Given the description of an element on the screen output the (x, y) to click on. 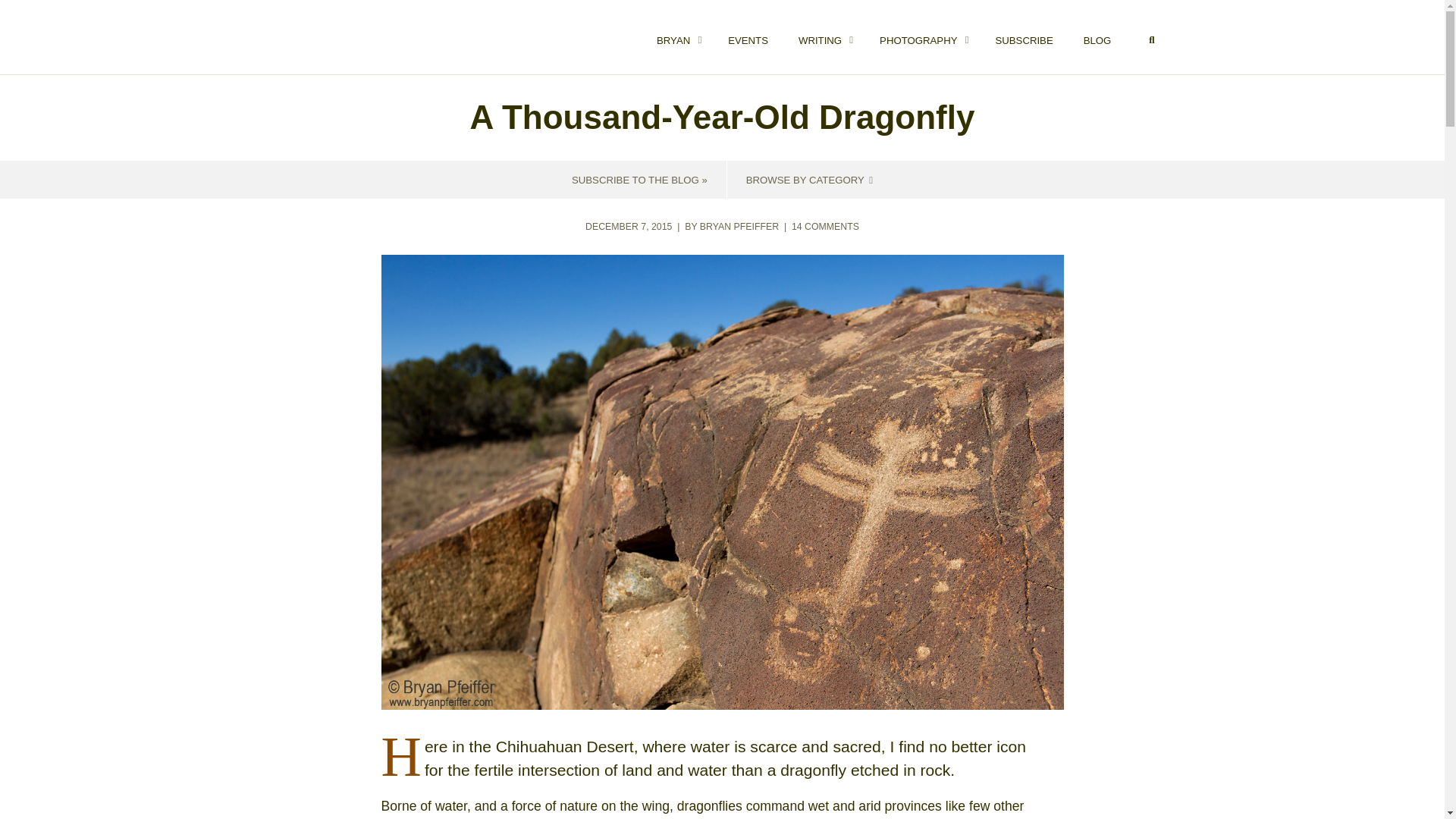
BRYAN (677, 37)
PHOTOGRAPHY (921, 37)
SUBSCRIBE (1023, 37)
EVENTS (748, 37)
Bryan Pfeiffer (361, 39)
BROWSE BY CATEGORY (808, 179)
Search (909, 37)
WRITING (1150, 39)
